Given the description of an element on the screen output the (x, y) to click on. 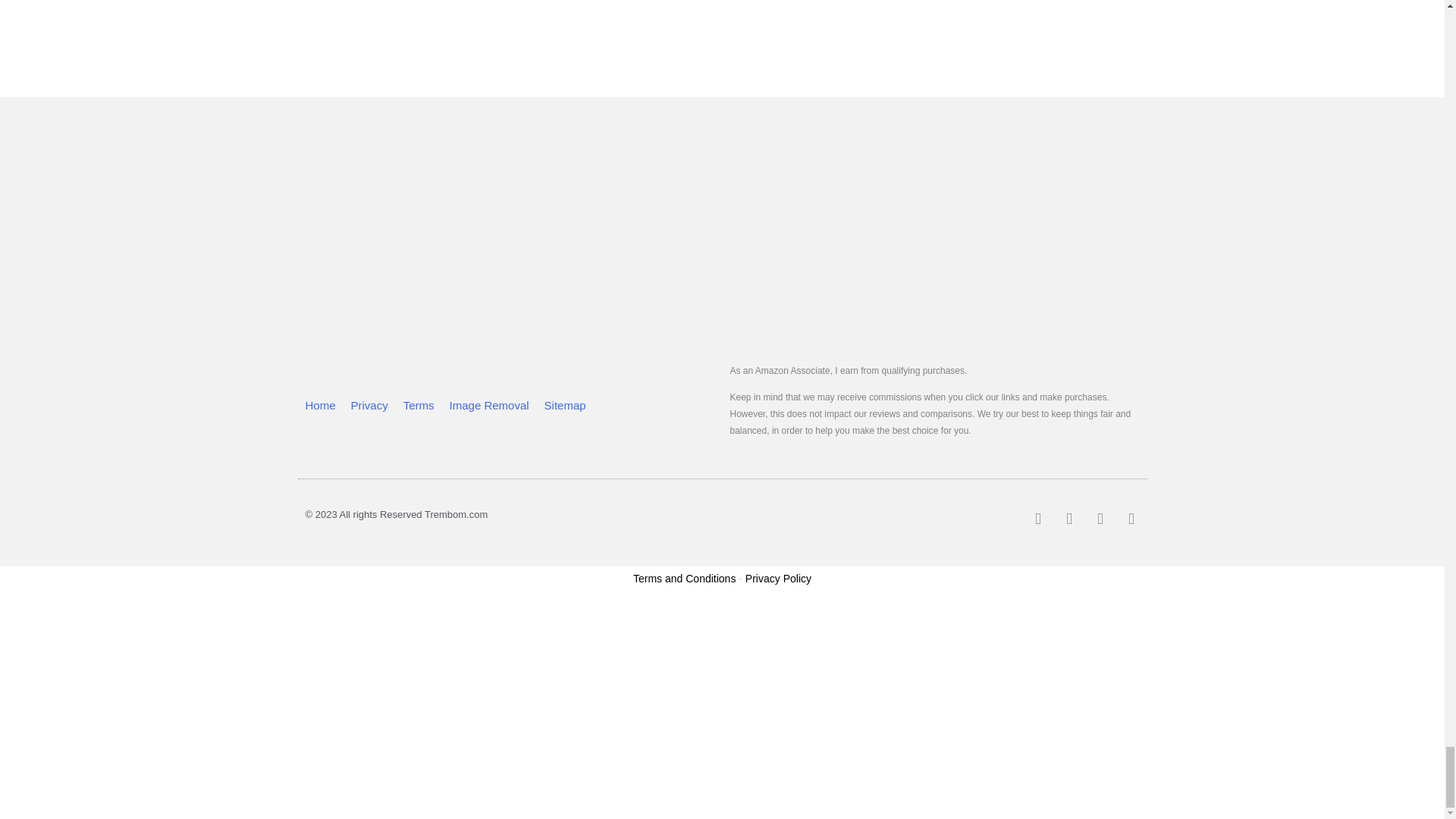
Privacy (369, 405)
Twitter (1037, 519)
Image Removal (489, 405)
Sitemap (565, 405)
Terms (418, 405)
Pinterest (1069, 519)
